Given the description of an element on the screen output the (x, y) to click on. 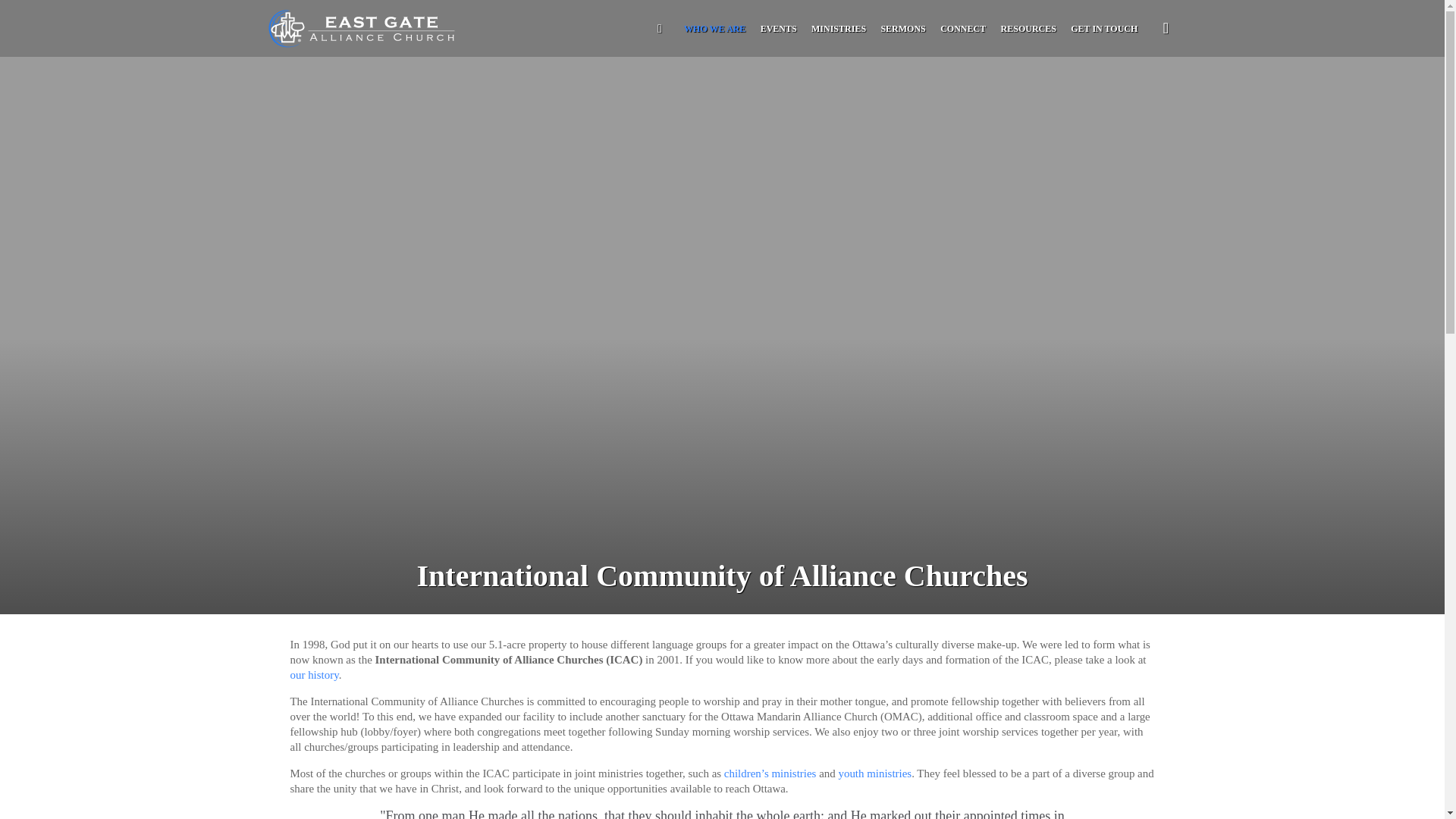
MINISTRIES (838, 28)
SERMONS (903, 28)
RESOURCES (1027, 28)
our history (313, 674)
WHO WE ARE (714, 28)
GET IN TOUCH (1103, 28)
CONNECT (962, 28)
East Gate Alliance Church (365, 28)
EVENTS (778, 28)
youth ministries (874, 773)
